Given the description of an element on the screen output the (x, y) to click on. 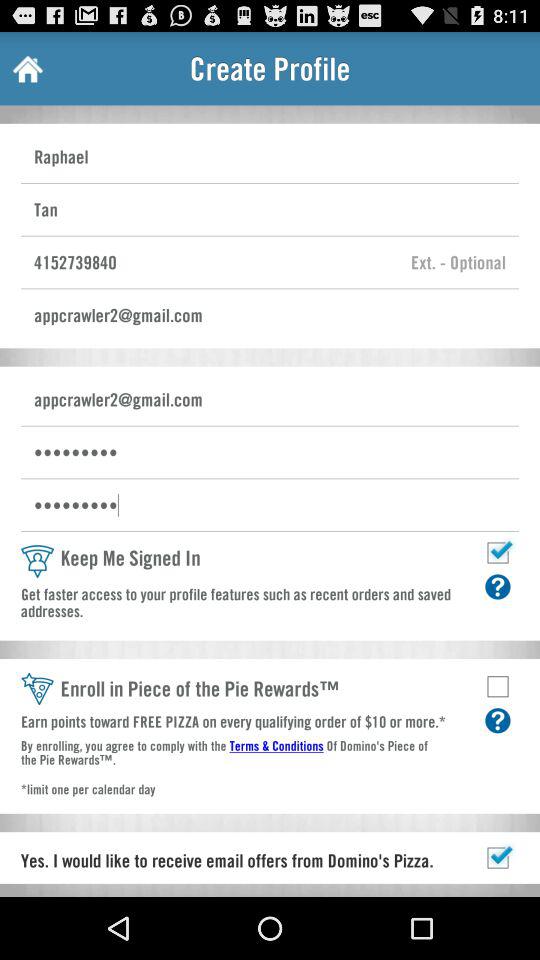
select box option (498, 686)
